Given the description of an element on the screen output the (x, y) to click on. 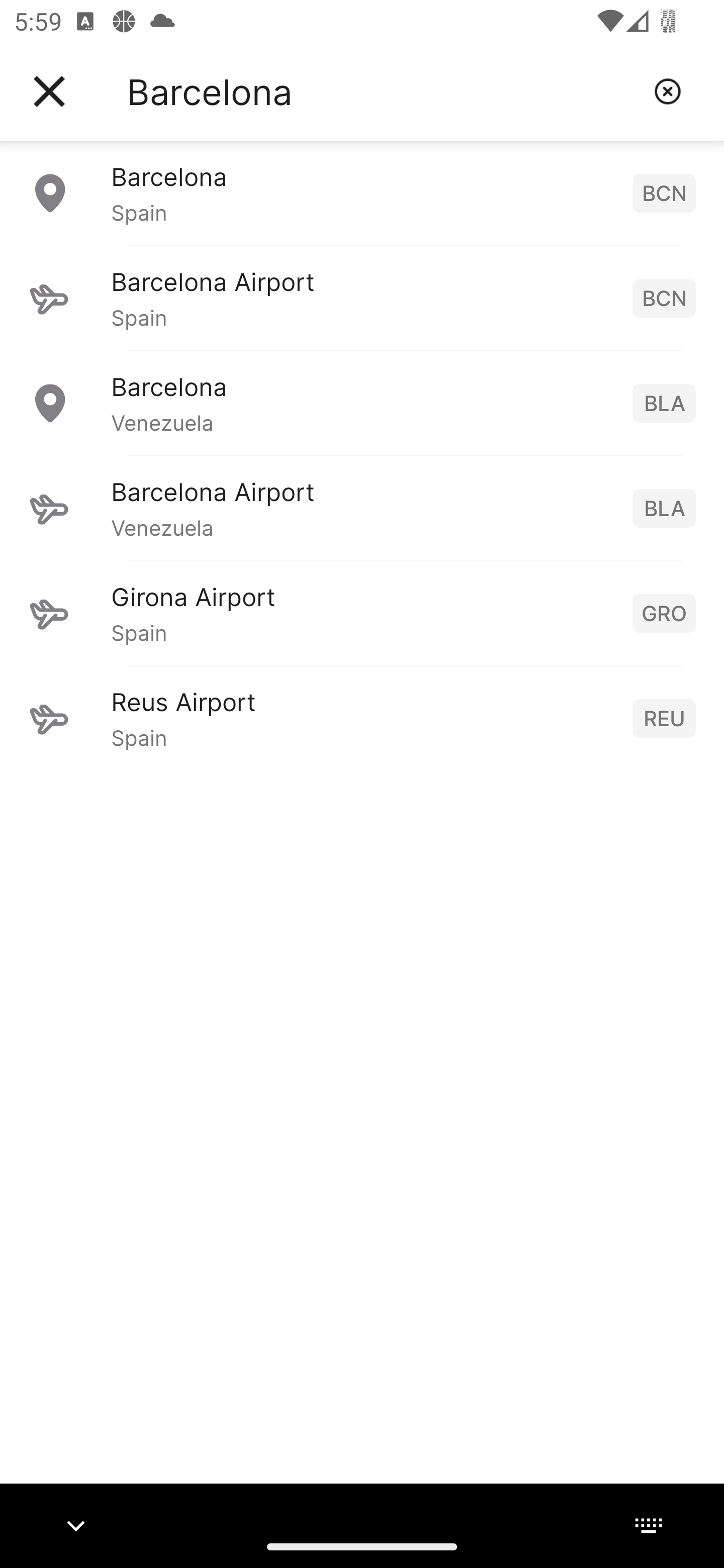
Barcelona (382, 91)
Barcelona Spain BCN (362, 192)
Barcelona Airport Spain BCN (362, 297)
Barcelona Venezuela BLA (362, 402)
Barcelona Airport Venezuela BLA (362, 507)
Girona Airport Spain GRO (362, 612)
Reus Airport Spain REU (362, 717)
